Given the description of an element on the screen output the (x, y) to click on. 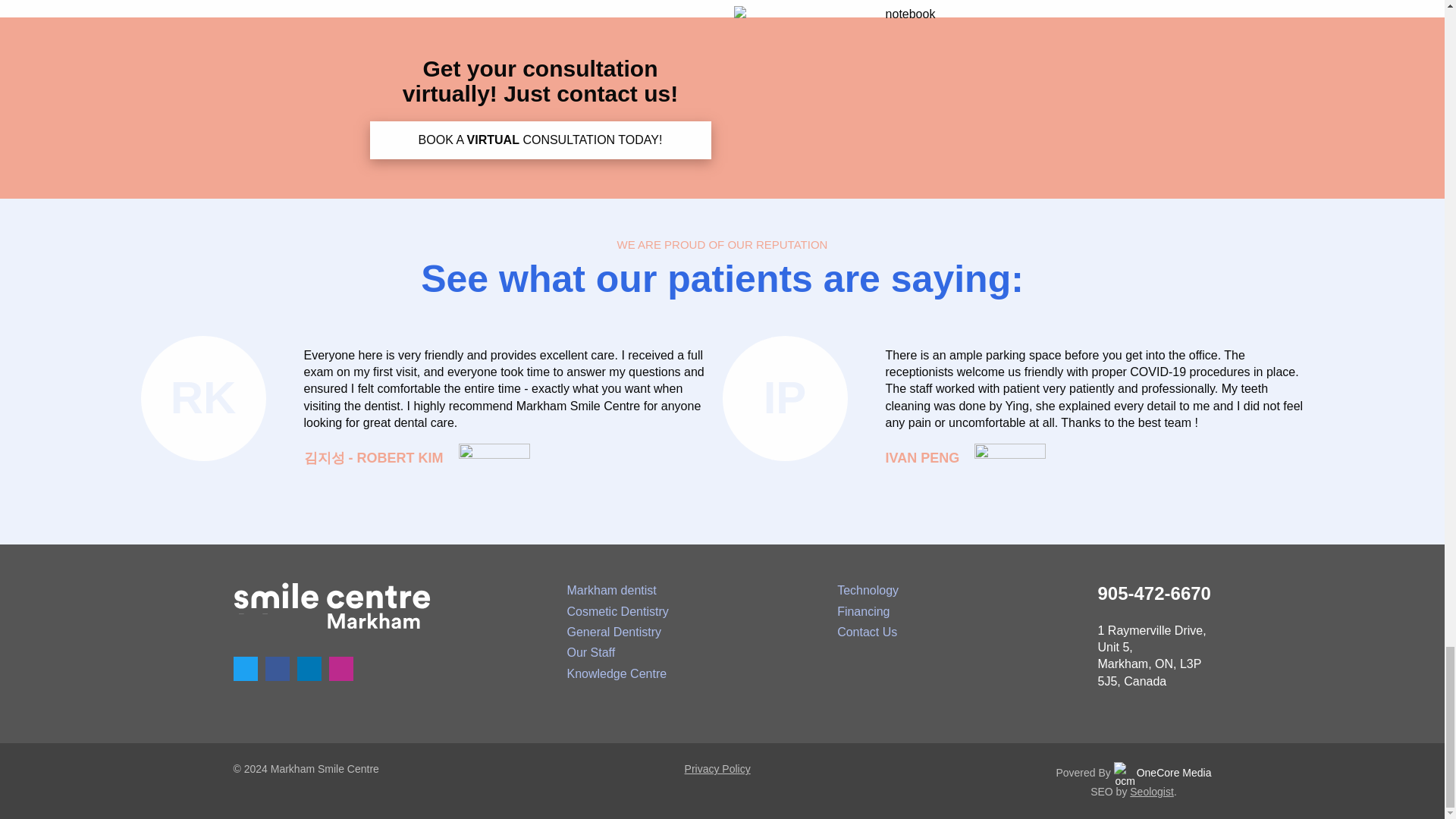
Markham dentist (611, 590)
Knowledge Centre (616, 673)
BOOK A VIRTUAL CONSULTATION TODAY! (540, 139)
Technology (867, 590)
Contact Us (866, 631)
905-472-6670 (1138, 593)
Cosmetic Dentistry (617, 611)
Our Staff (590, 652)
Financing (863, 611)
General Dentistry (613, 631)
